Given the description of an element on the screen output the (x, y) to click on. 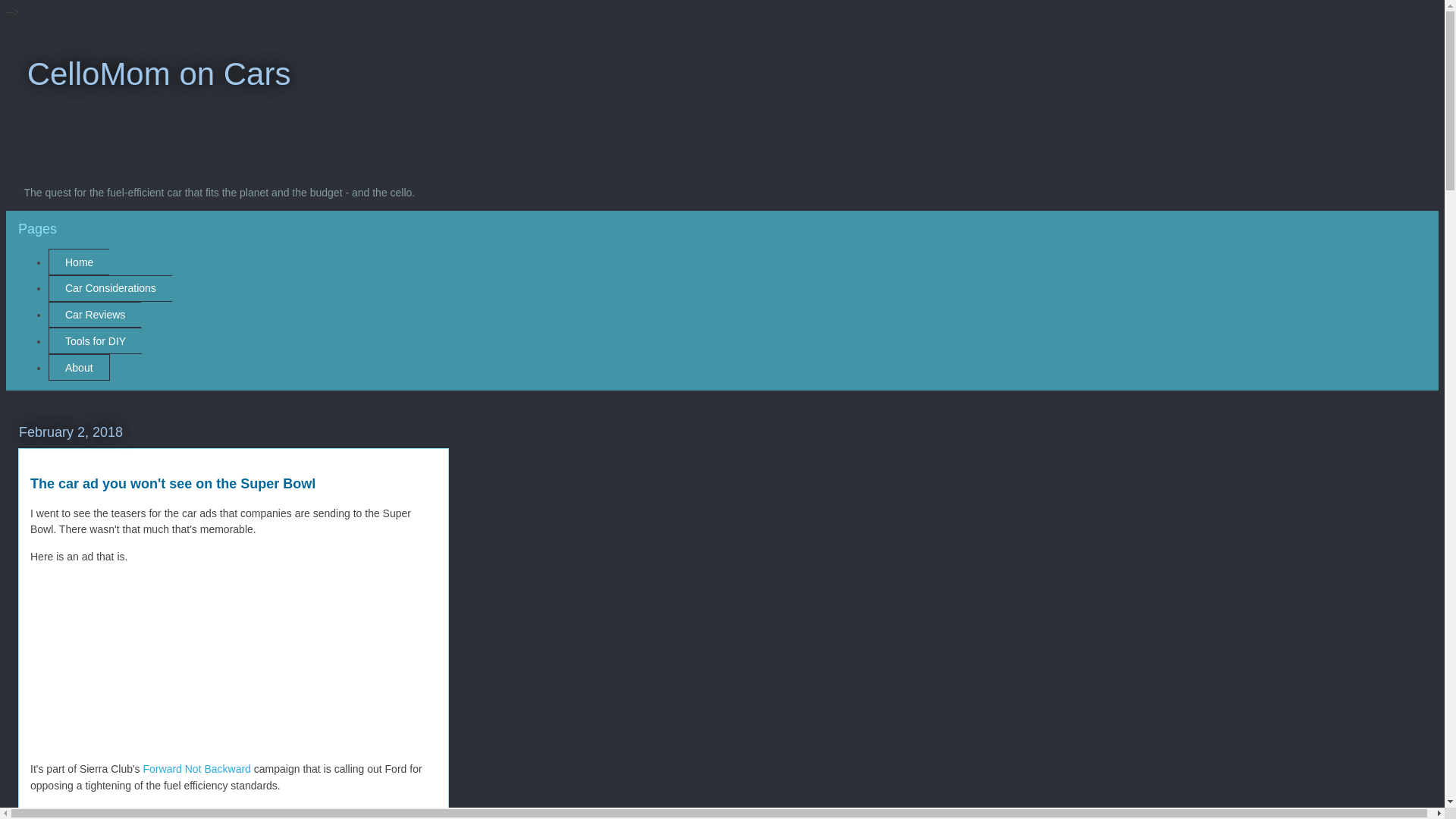
Car Reviews (94, 315)
Tools for DIY (94, 340)
Car Considerations (109, 288)
 CelloMom on Cars (153, 73)
Forward Not Backward (196, 768)
About (79, 366)
The car ad you won't see on the Super Bowl (172, 483)
Home (78, 261)
